Given the description of an element on the screen output the (x, y) to click on. 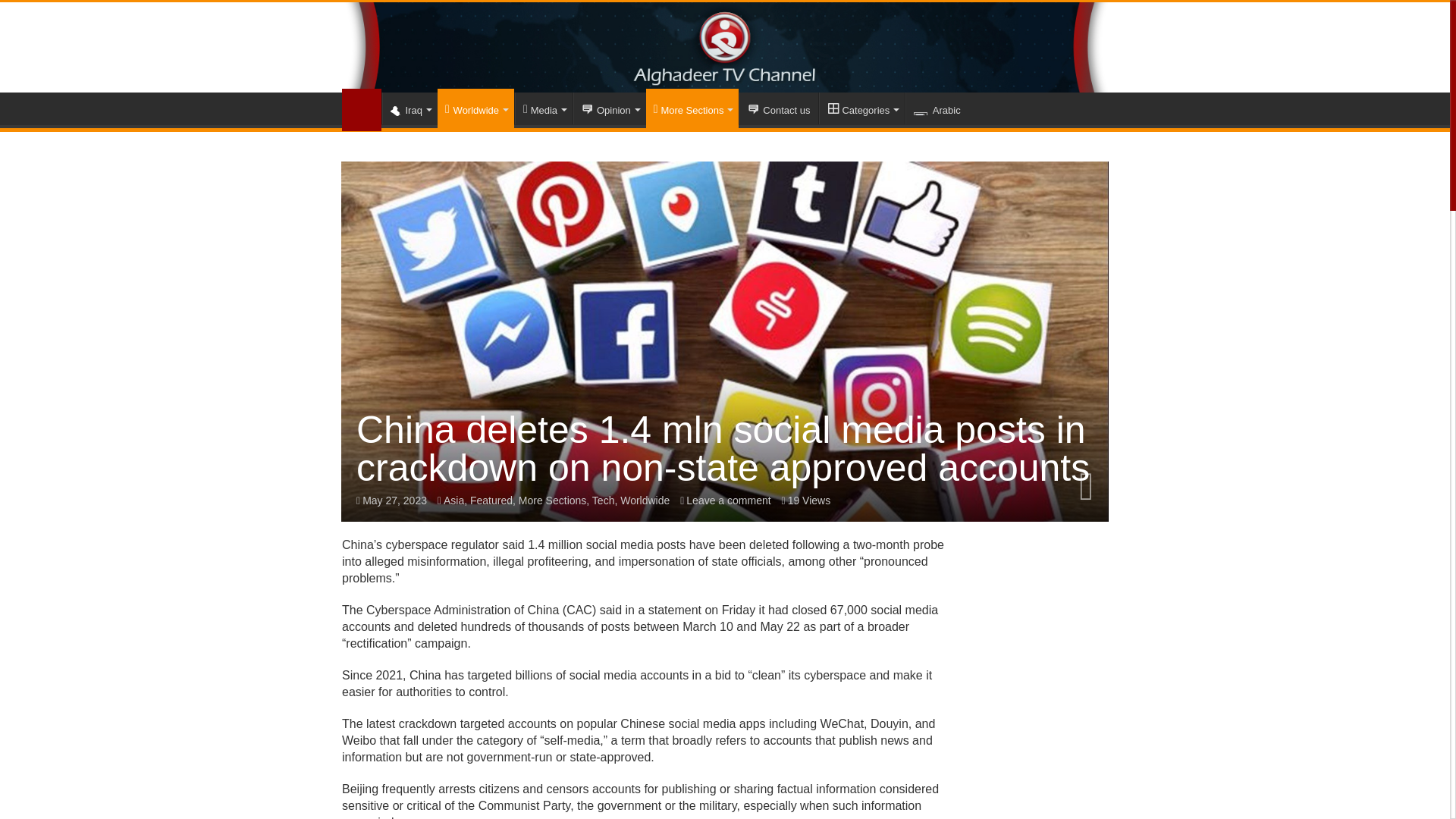
Alghadeer TV (725, 47)
Home (361, 109)
Iraq (409, 108)
Worldwide (475, 107)
